Given the description of an element on the screen output the (x, y) to click on. 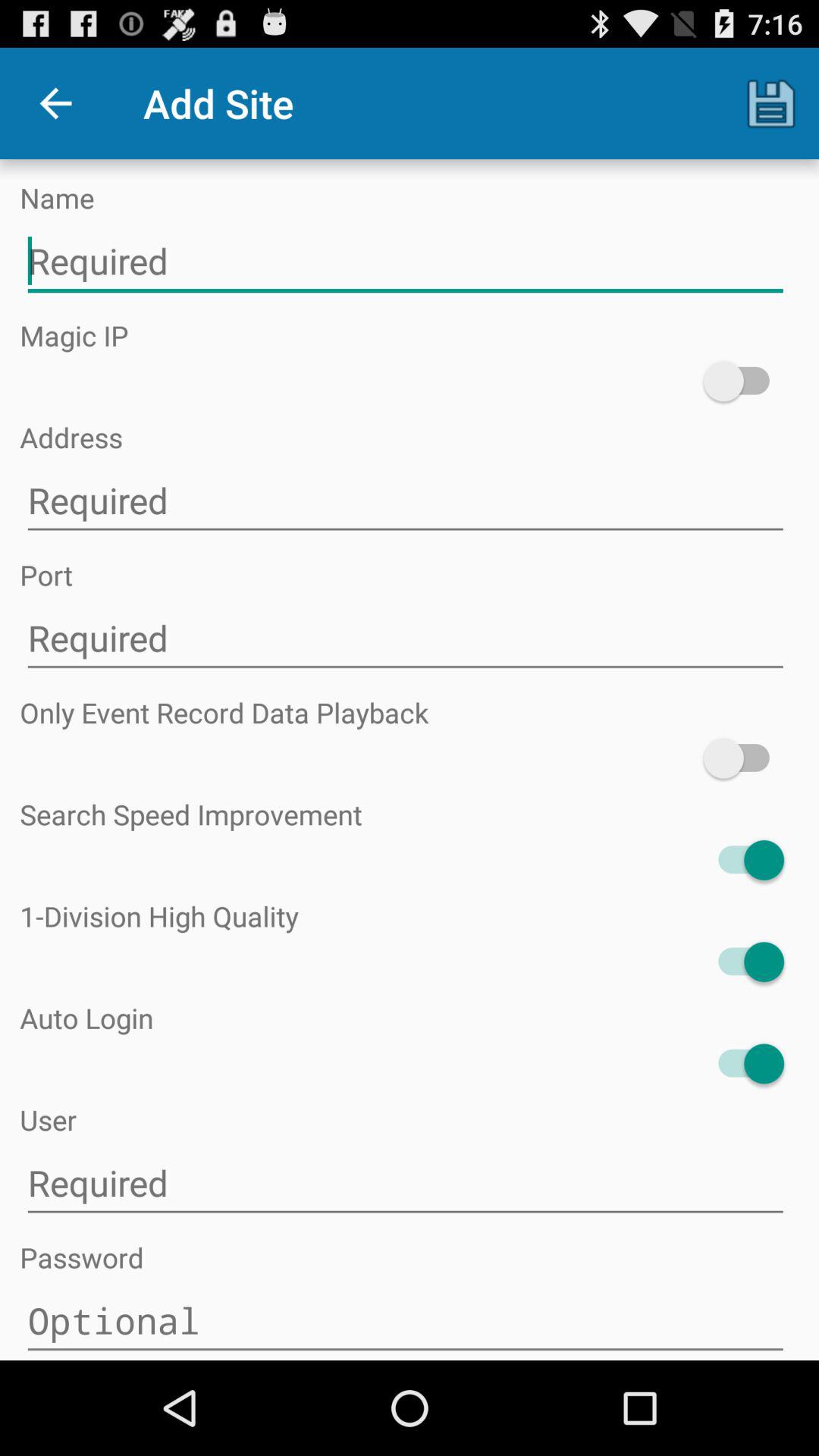
open item next to the add site (55, 103)
